Given the description of an element on the screen output the (x, y) to click on. 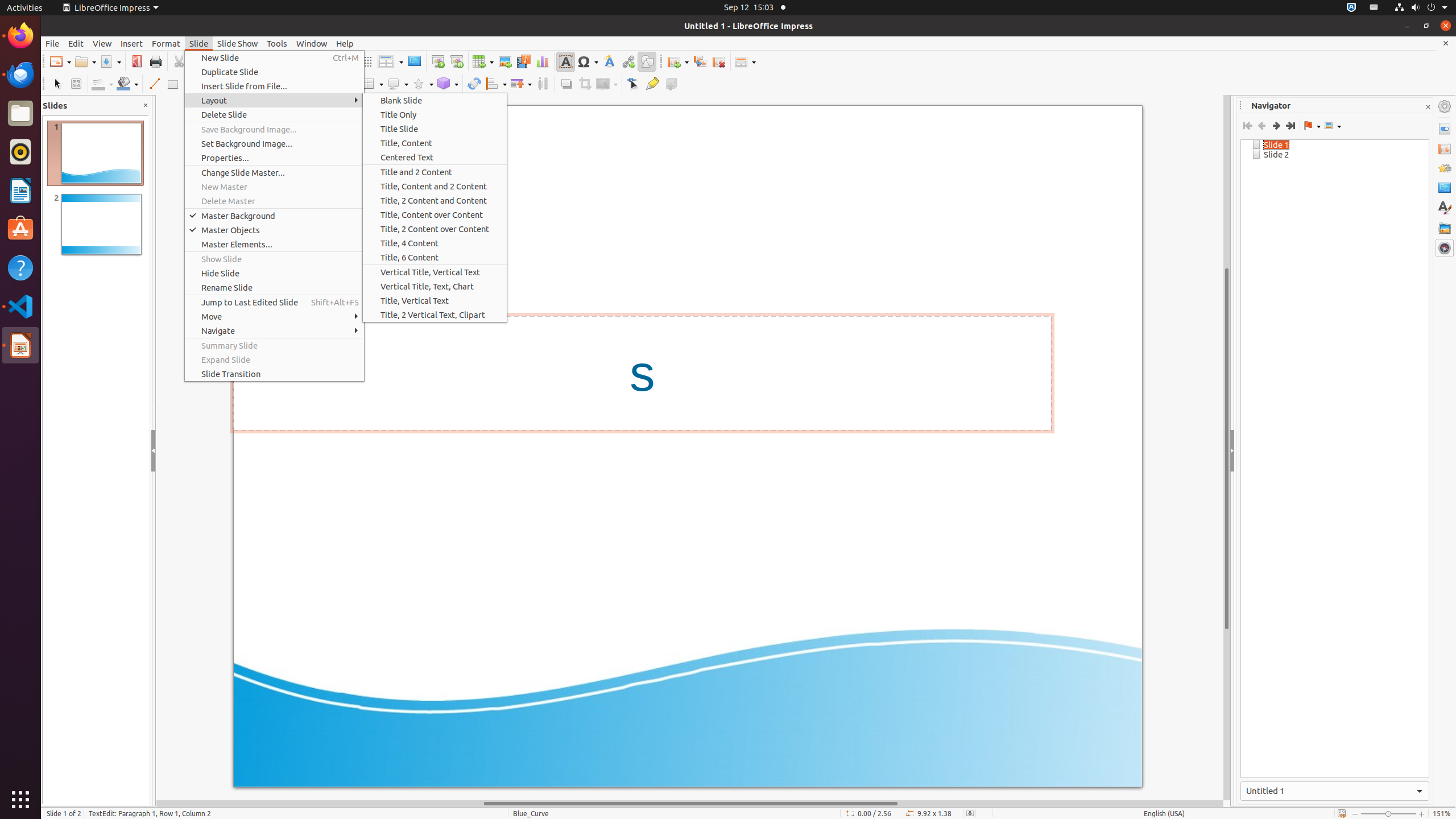
Gallery Element type: radio-button (1444, 227)
Slide Show Element type: menu (237, 43)
Show Slide Element type: menu-item (274, 258)
Blank Slide Element type: menu-item (434, 100)
Slide Element type: menu (198, 43)
